Given the description of an element on the screen output the (x, y) to click on. 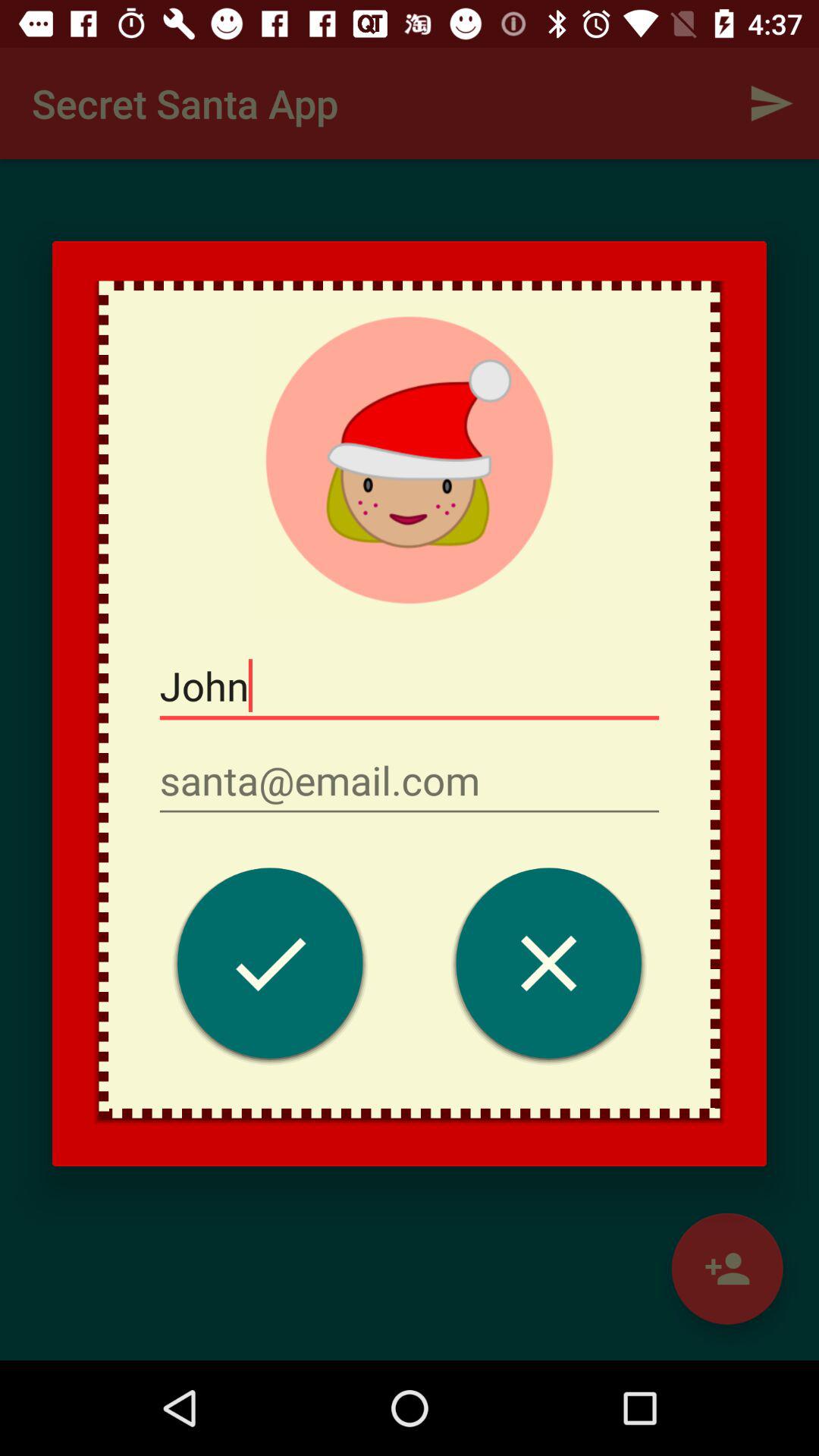
launch item below the john item (409, 780)
